Given the description of an element on the screen output the (x, y) to click on. 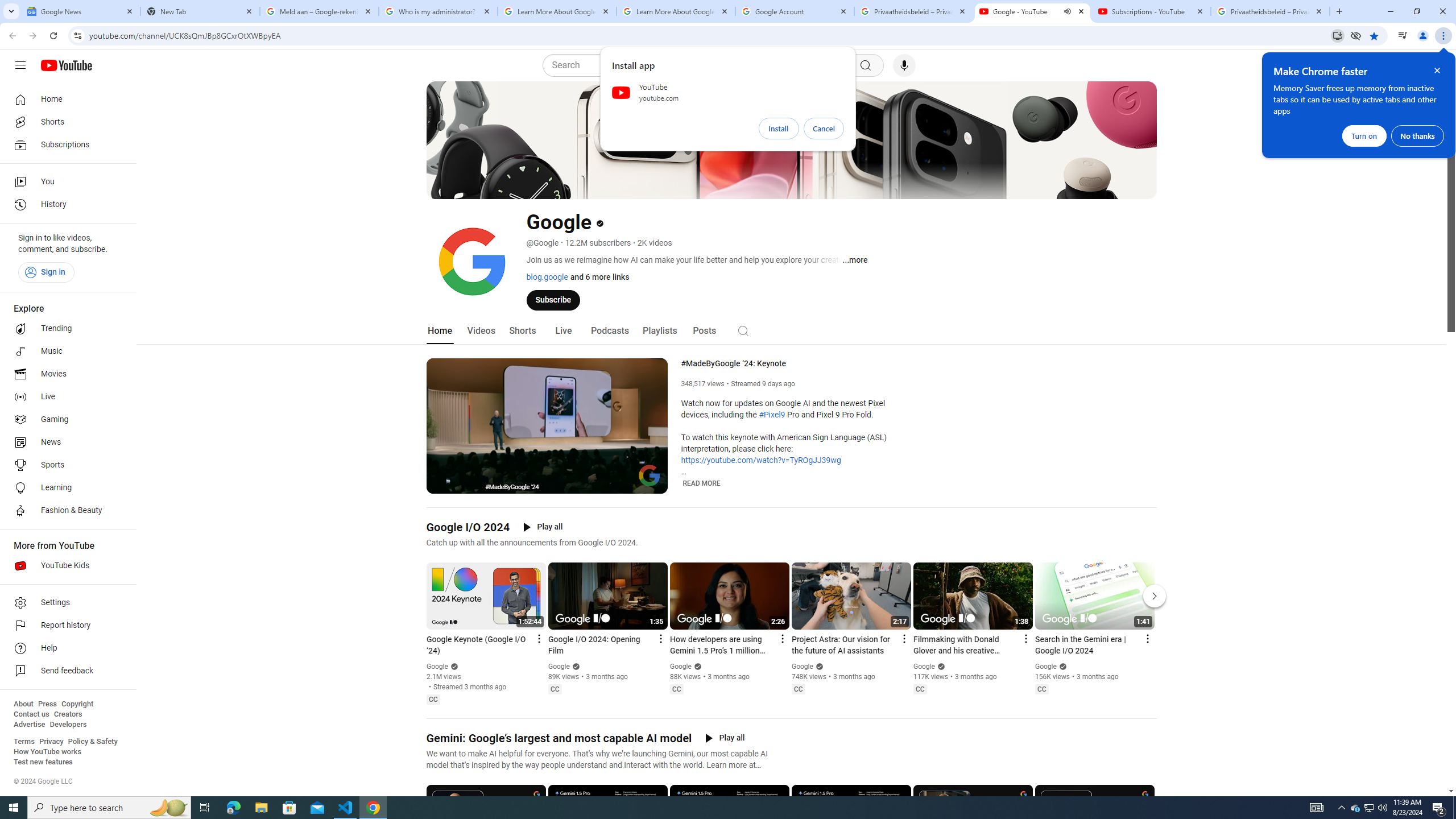
News (64, 441)
and 6 more links (598, 276)
Shorts (64, 121)
Home (64, 99)
Close help bubble (1436, 69)
Policy & Safety (91, 741)
How YouTube works (47, 751)
Home (440, 330)
